Given the description of an element on the screen output the (x, y) to click on. 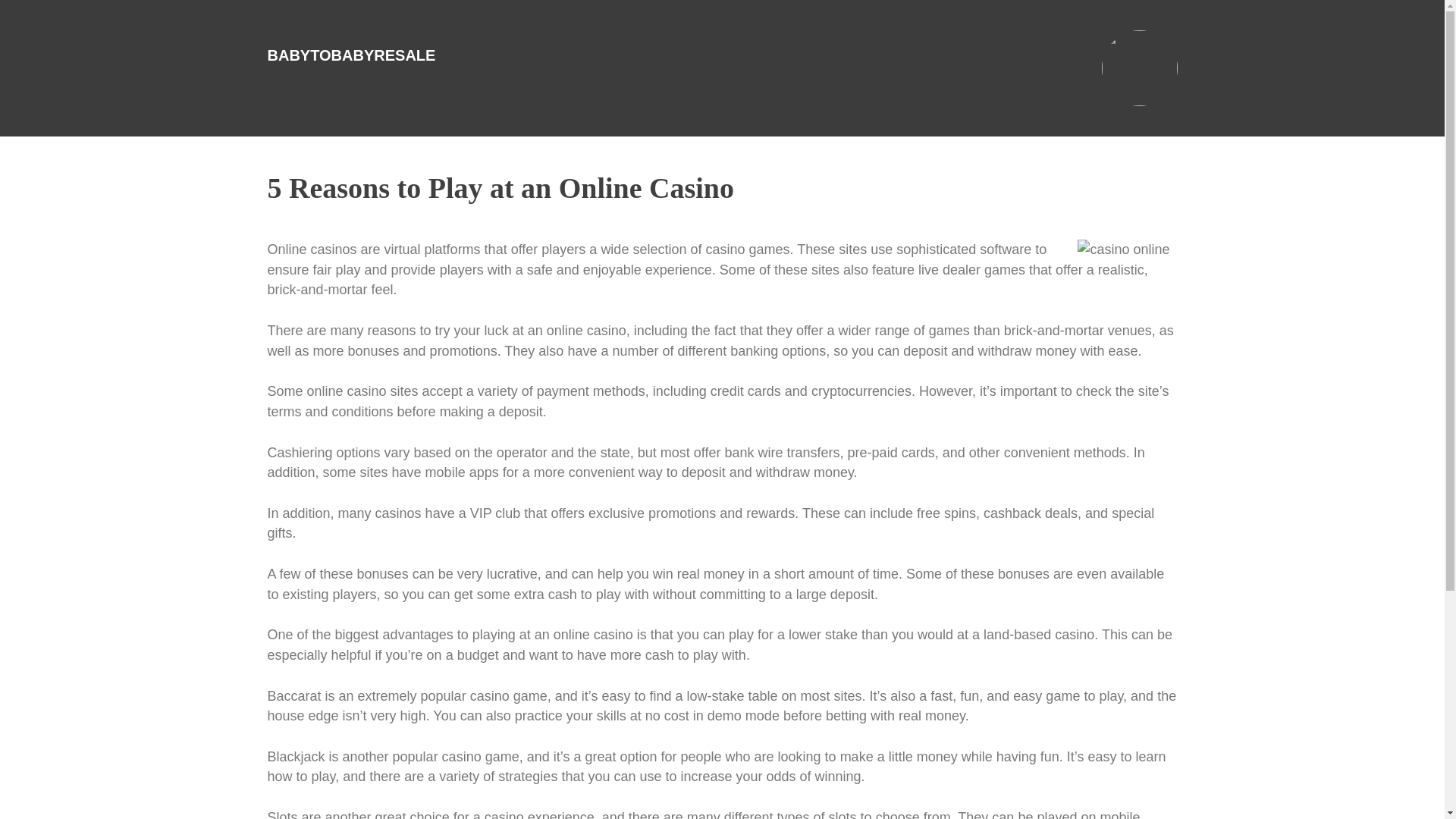
BABYTOBABYRESALE (350, 54)
babytobabyresale (350, 54)
